Given the description of an element on the screen output the (x, y) to click on. 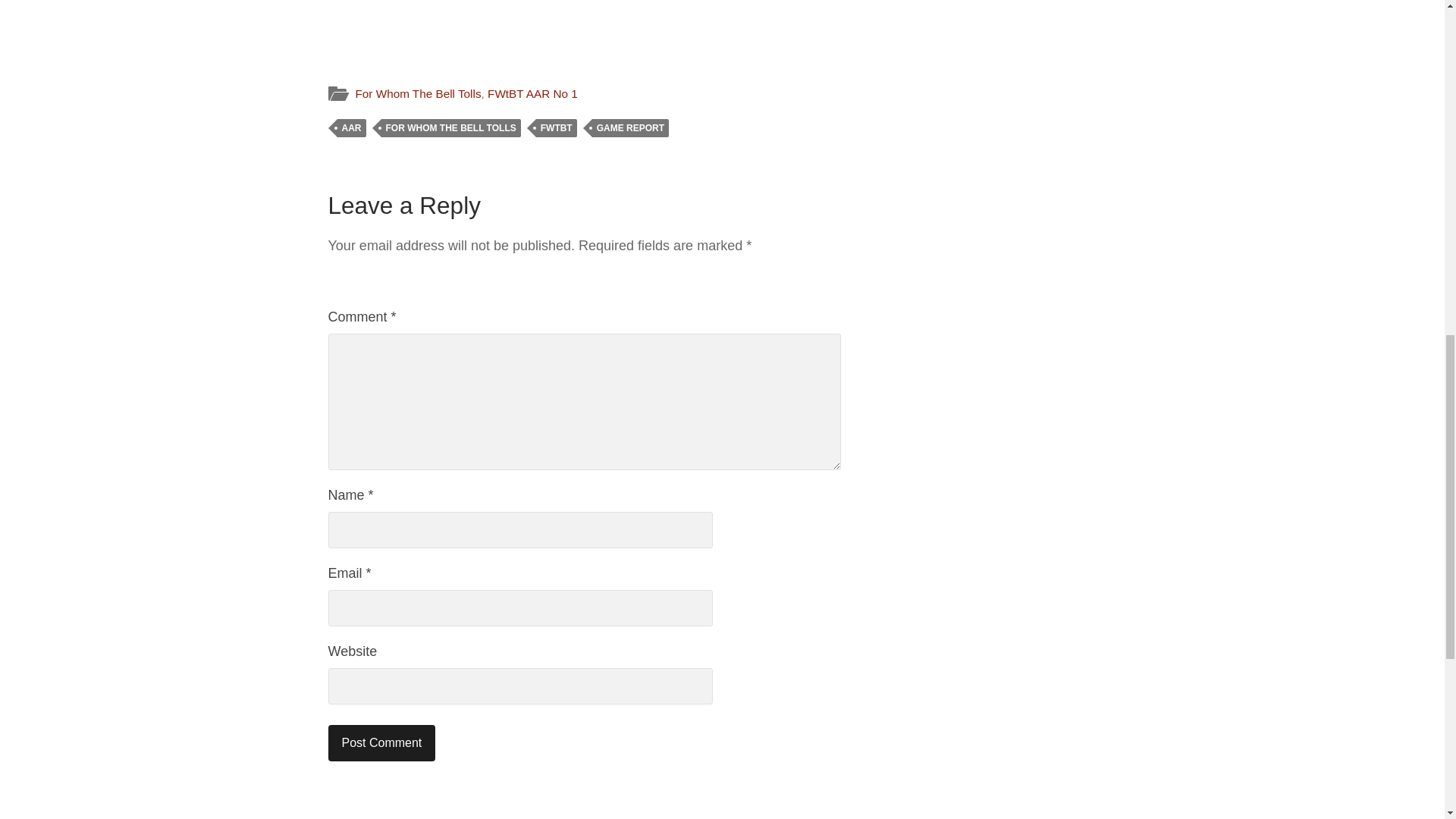
Post Comment (381, 742)
